Given the description of an element on the screen output the (x, y) to click on. 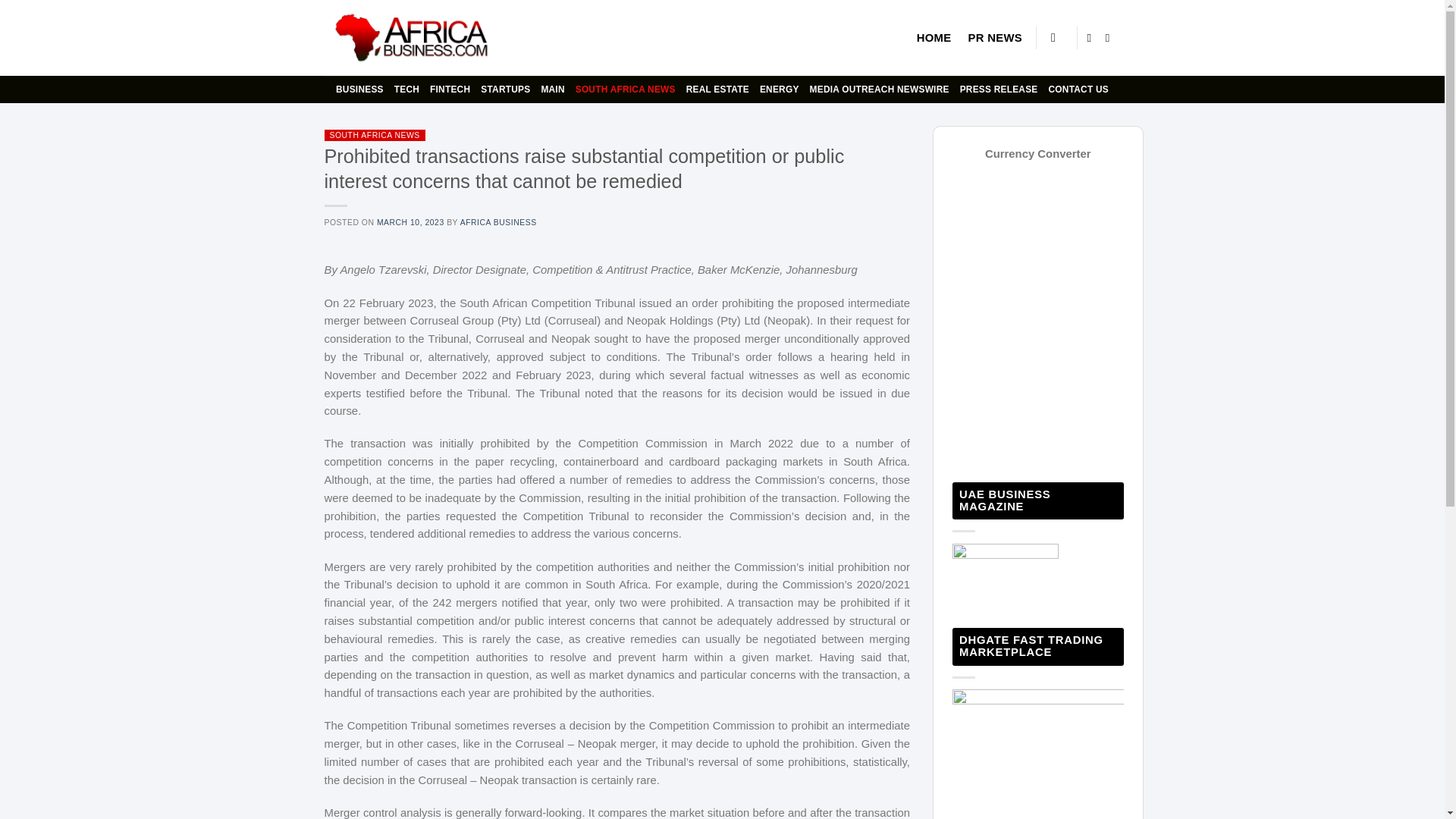
STARTUPS (504, 89)
REAL ESTATE (717, 89)
PRESS RELEASE (998, 89)
HOME (934, 37)
CONTACT US (1078, 89)
SOUTH AFRICA NEWS (374, 135)
UAE Business Magazine (1005, 576)
SOUTH AFRICA NEWS (625, 89)
PR NEWS (995, 37)
ENERGY (779, 89)
